Given the description of an element on the screen output the (x, y) to click on. 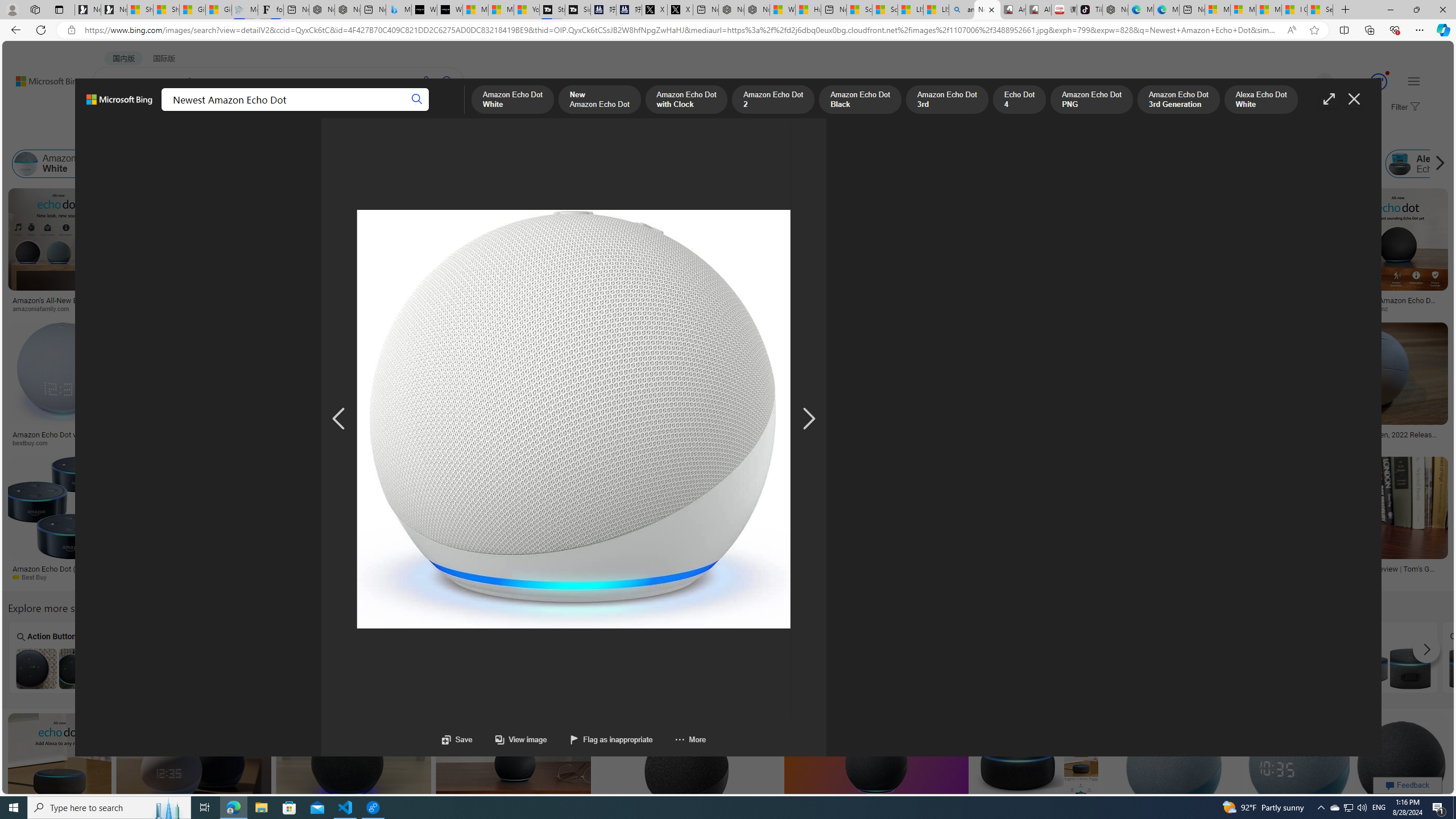
Newest (774, 656)
Class: b_pri_nav_svg (191, 112)
Color (173, 135)
Kids Edition (364, 656)
Amazon Echo Dot Black (551, 163)
MORE (443, 111)
Newest Amazon Echo Dot Newest (774, 656)
